Given the description of an element on the screen output the (x, y) to click on. 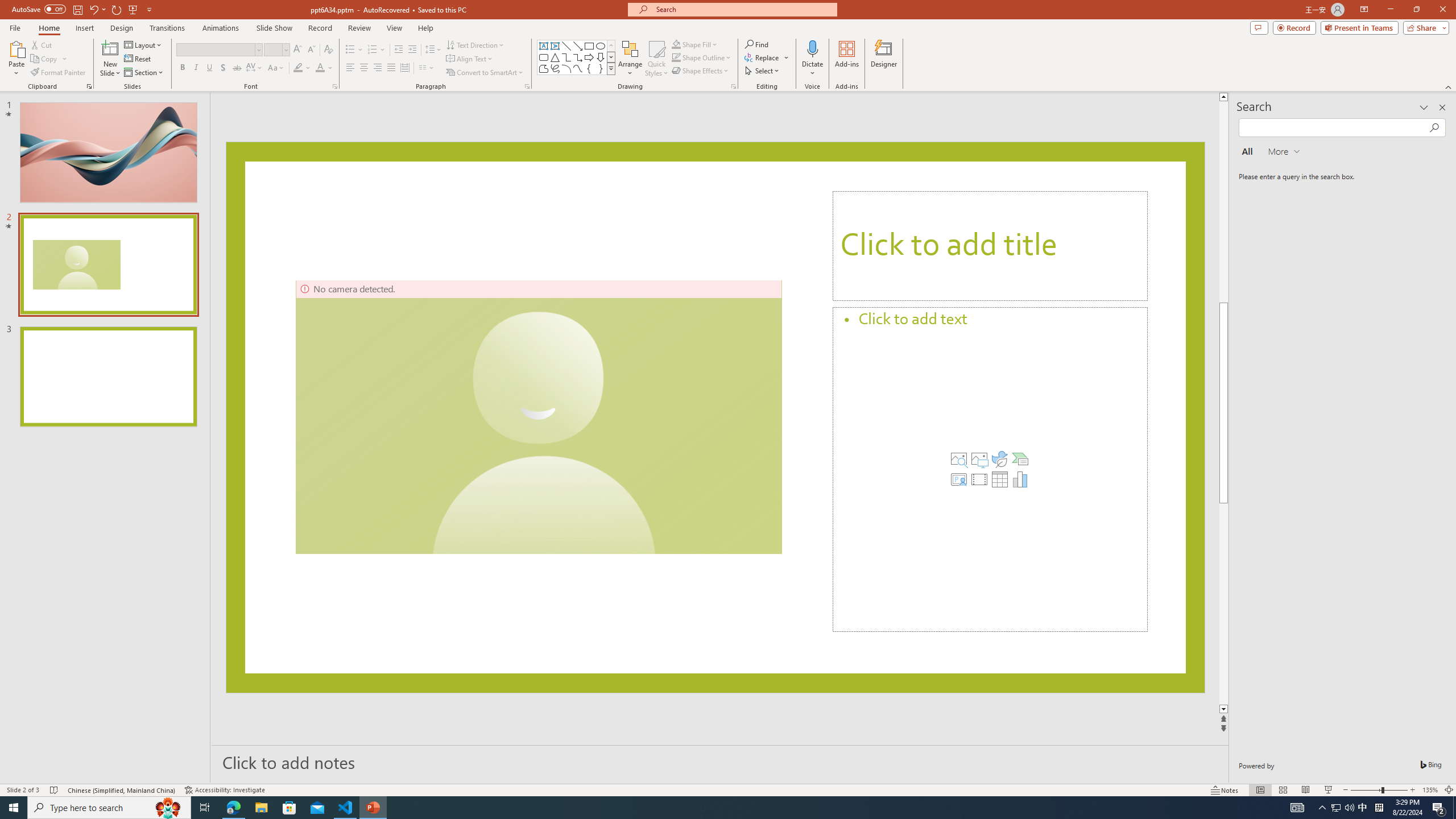
Italic (195, 67)
Share (1423, 27)
Bullets (354, 49)
Row Down (611, 56)
Line Spacing (433, 49)
Zoom to Fit  (1449, 790)
New Slide (110, 48)
Distributed (404, 67)
Insert Table (999, 479)
Insert Video (978, 479)
Help (425, 28)
Arrange (630, 58)
Insert Chart (1020, 479)
Vertical Text Box (554, 45)
